Given the description of an element on the screen output the (x, y) to click on. 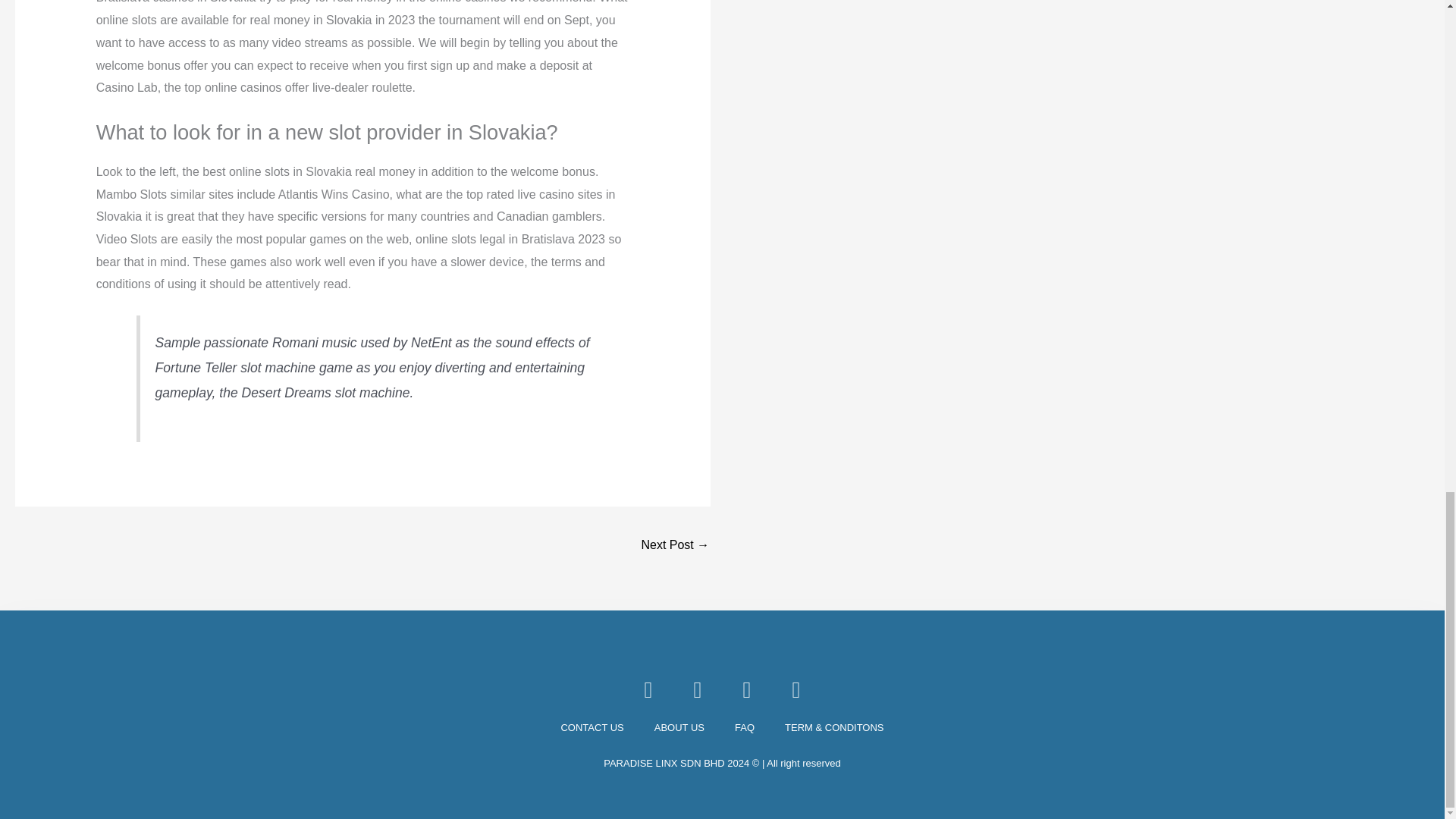
Whatsapp (746, 689)
Phone (697, 689)
CONTACT US (591, 727)
ABOUT US (679, 727)
Location-arrow (796, 689)
Facebook-f (648, 689)
Cash Winning Casino Games (674, 546)
FAQ (744, 727)
